Given the description of an element on the screen output the (x, y) to click on. 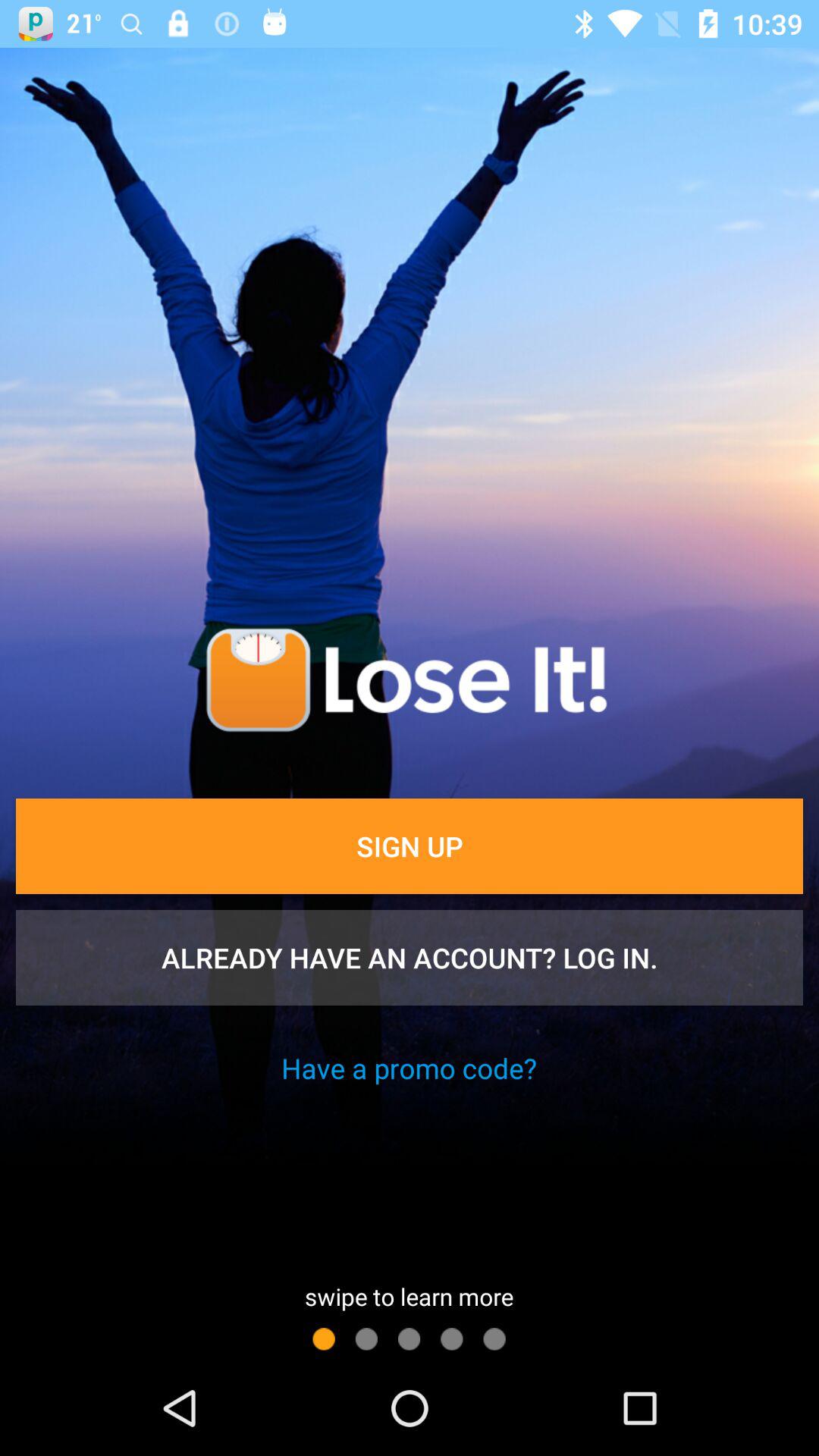
click have a promo icon (408, 1067)
